Given the description of an element on the screen output the (x, y) to click on. 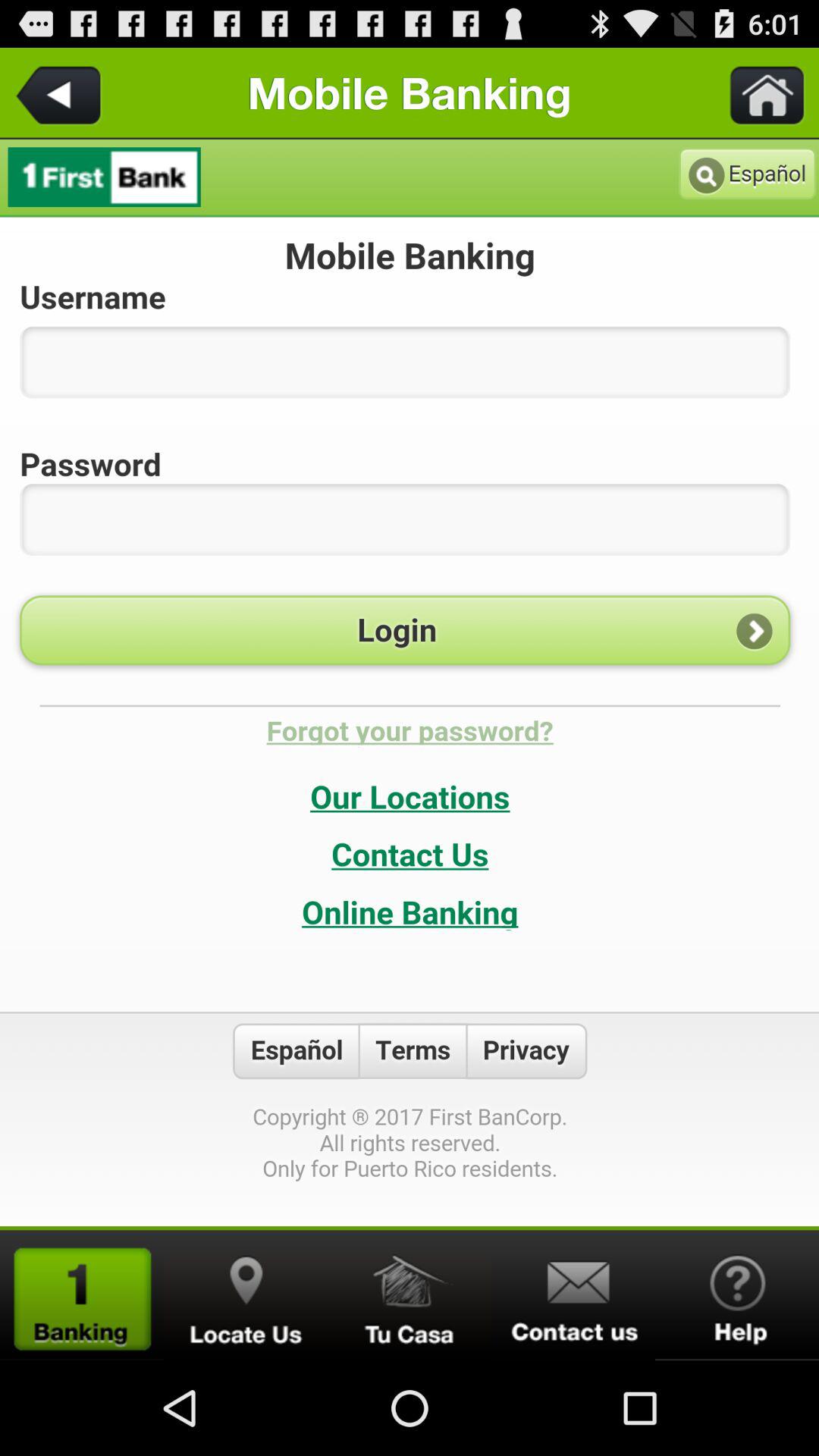
open new area (81, 1295)
